Given the description of an element on the screen output the (x, y) to click on. 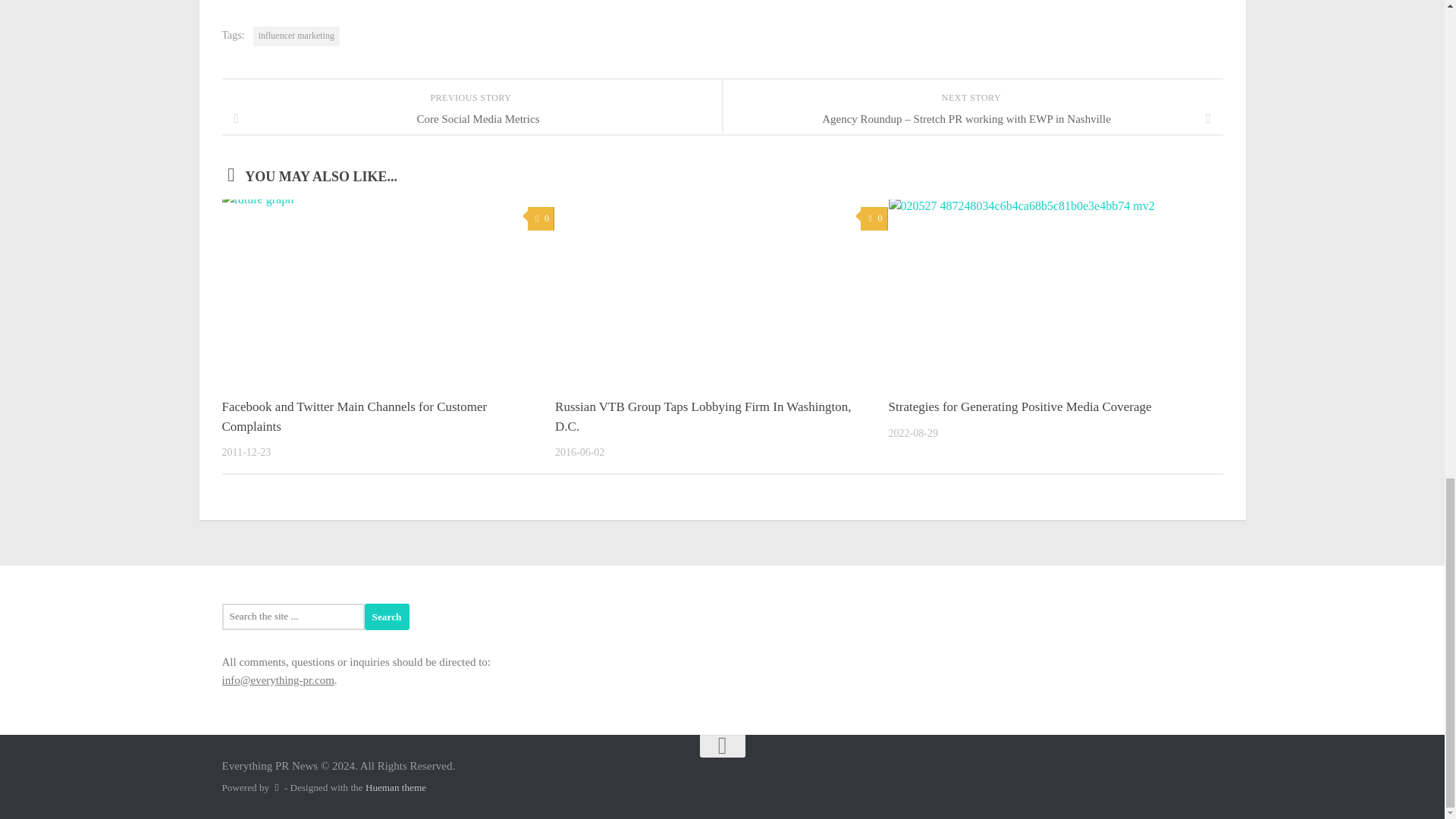
Search (386, 616)
Hueman theme (395, 787)
Powered by WordPress (275, 787)
